Given the description of an element on the screen output the (x, y) to click on. 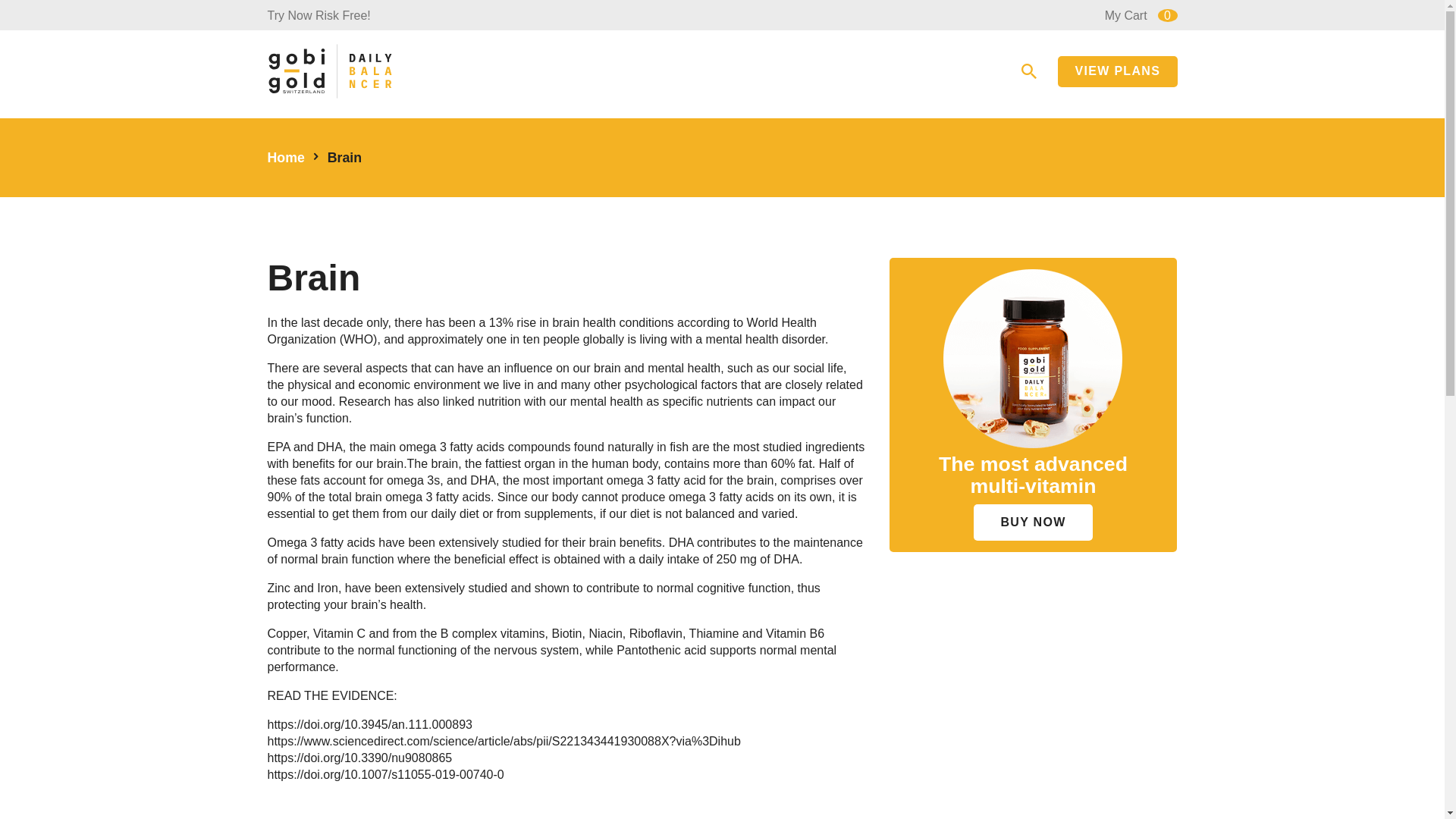
VIEW PLANS (1117, 71)
Home (285, 157)
